Given the description of an element on the screen output the (x, y) to click on. 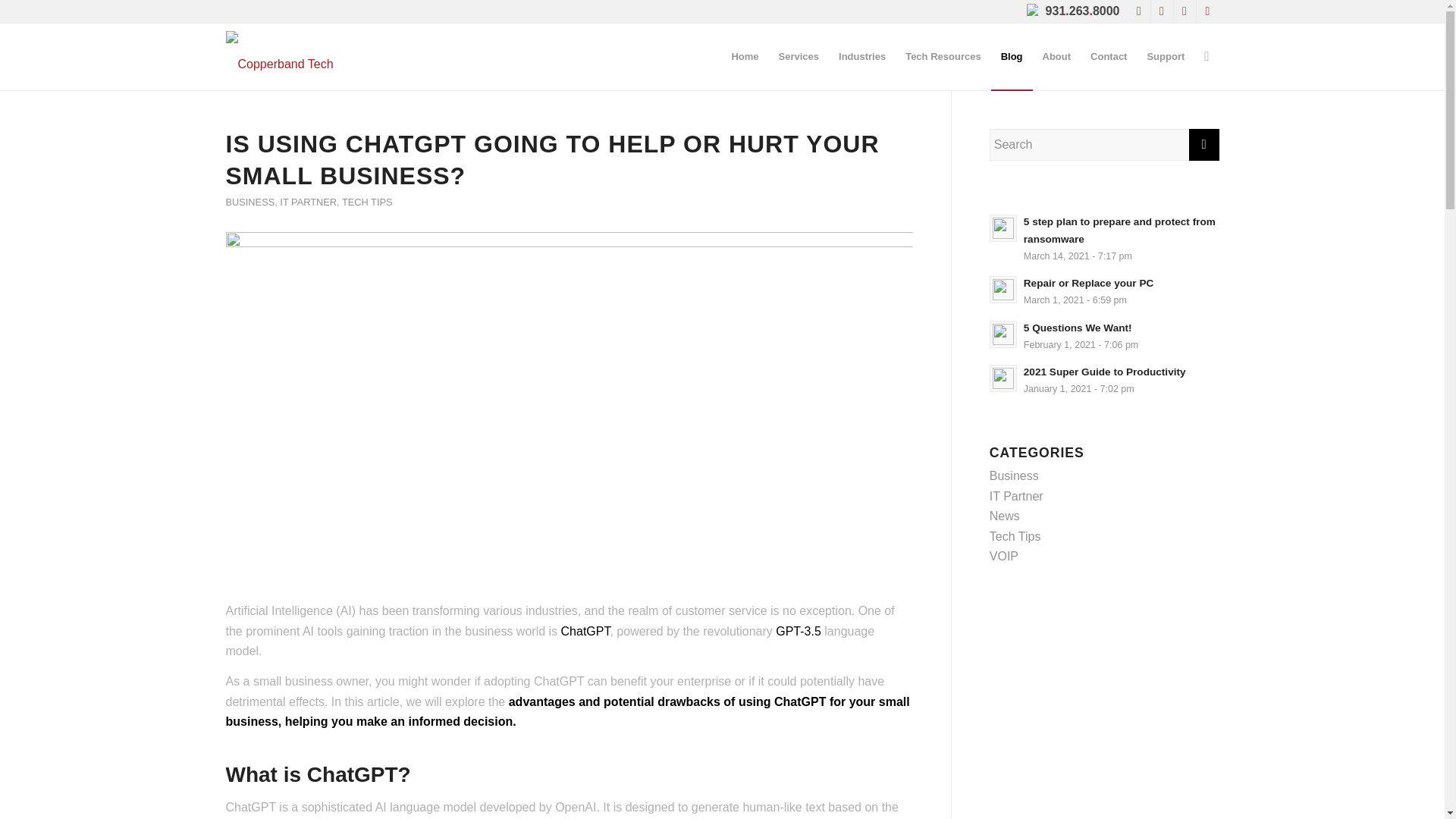
Tech Resources (942, 56)
Facebook (1162, 11)
header-logo-1 (369, 58)
IT PARTNER (307, 202)
ChatGPT (585, 631)
Services (798, 56)
header-logo-1 (369, 56)
GPT-3.5 (800, 631)
BUSINESS (250, 202)
TECH TIPS (367, 202)
